Given the description of an element on the screen output the (x, y) to click on. 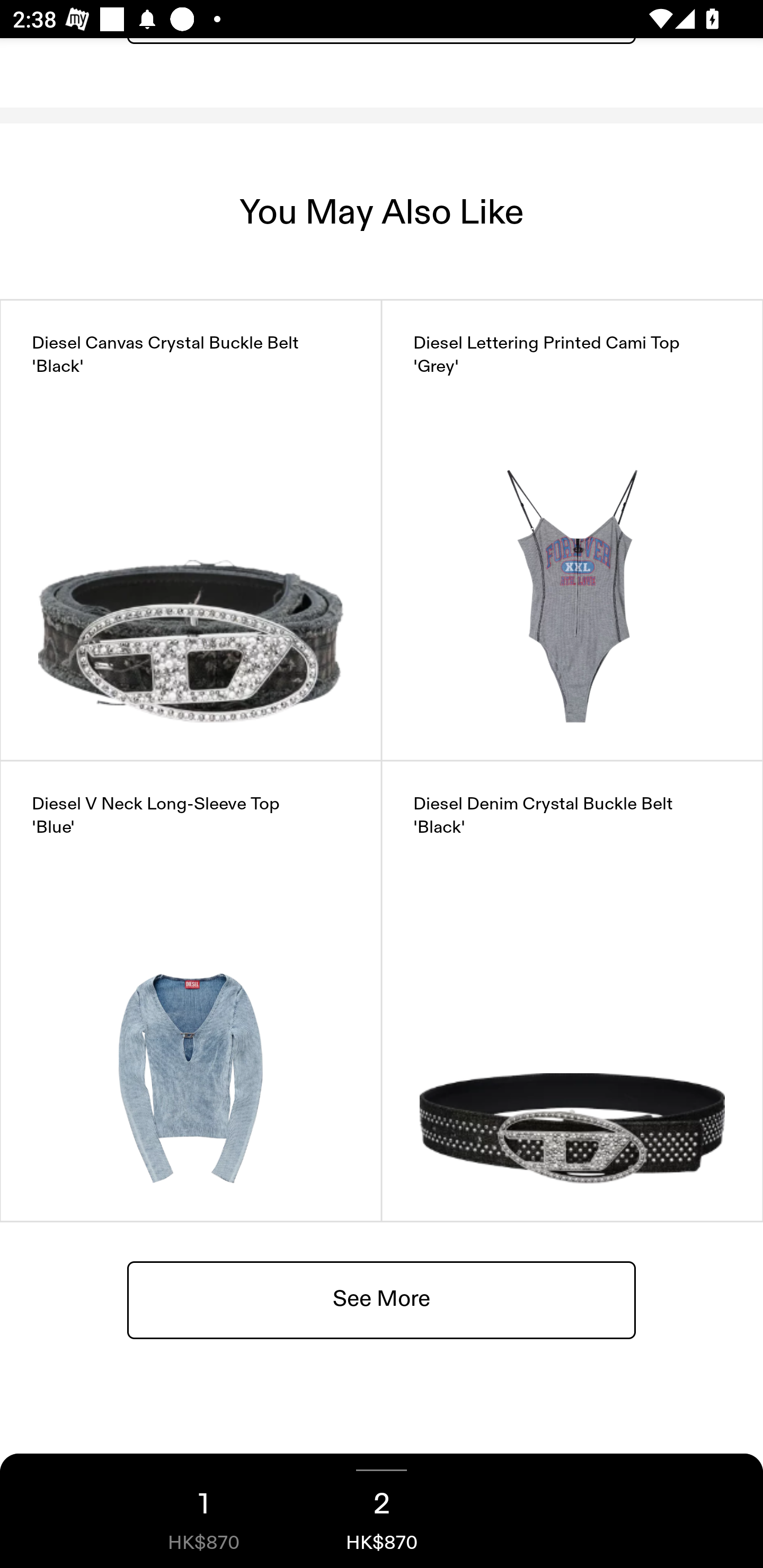
Diesel Canvas Crystal Buckle Belt 'Black' (190, 529)
Diesel Lettering Printed Cami Top 'Grey' (572, 529)
Diesel V Neck Long-Sleeve Top 'Blue' (190, 990)
Diesel Denim Crystal Buckle Belt 'Black' (572, 990)
See More (381, 1299)
1 HK$870 (203, 1510)
2 HK$870 (381, 1510)
